Given the description of an element on the screen output the (x, y) to click on. 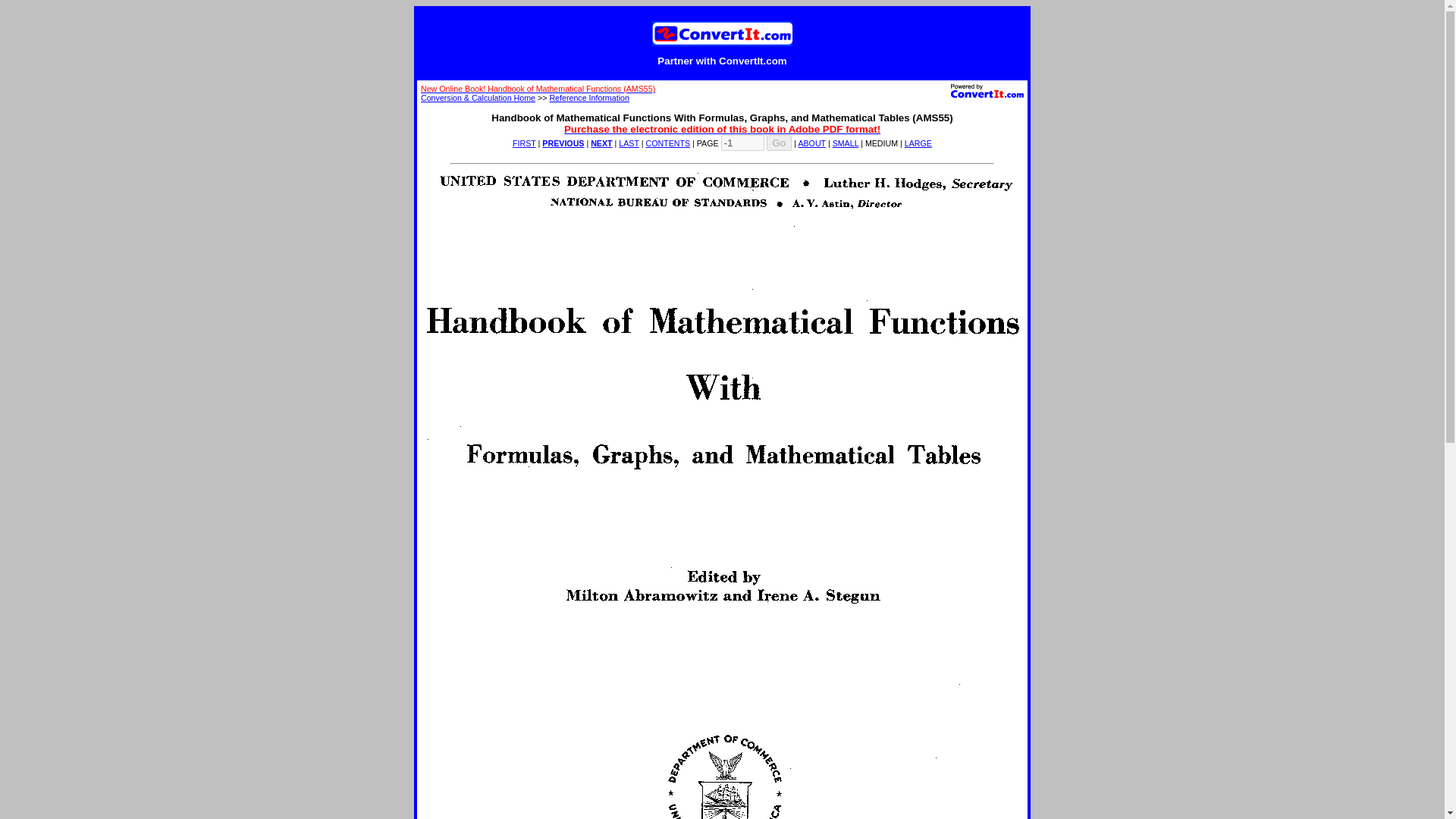
Reference Information (588, 97)
ABOUT (811, 143)
Display the previous page. (562, 143)
Go (778, 142)
LARGE (917, 143)
LAST (628, 143)
PREVIOUS (562, 143)
SMALL (845, 143)
Go (778, 142)
Partner with ConvertIt.com (721, 60)
Display information about this book. (811, 143)
Display the last page of the book. (628, 143)
-1 (742, 142)
Display the next page. (601, 143)
Display the first page of the book. (523, 143)
